Given the description of an element on the screen output the (x, y) to click on. 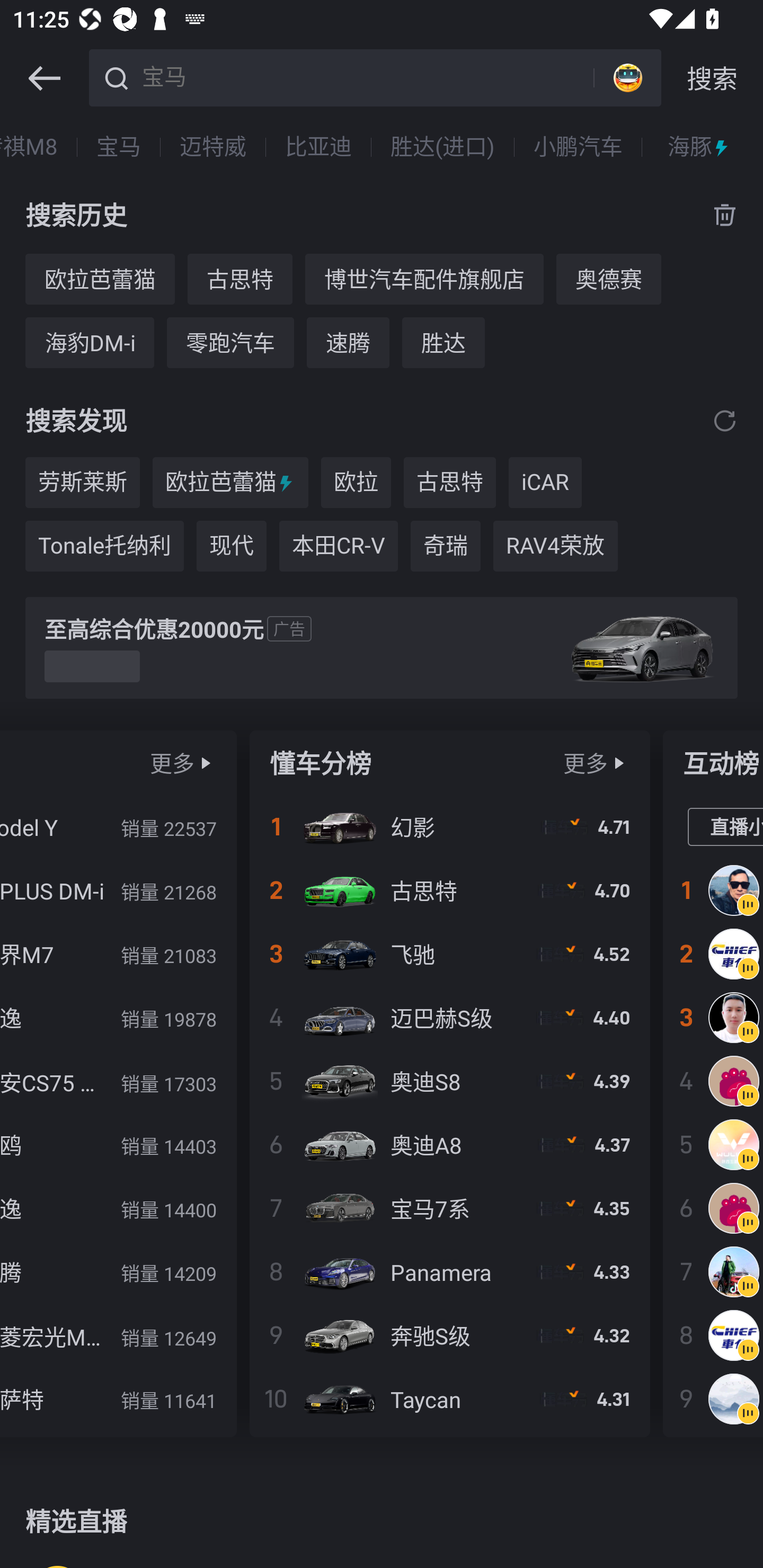
 宝马 (364, 76)
 (44, 78)
搜索 (711, 78)
宝马 (118, 147)
迈特威 (212, 147)
比亚迪 (318, 147)
胜达(进口) (442, 147)
小鹏汽车 (577, 147)
海豚 (699, 147)
欧拉芭蕾猫 (99, 278)
古思特 (239, 278)
博世汽车配件旗舰店 (424, 278)
奥德赛 (608, 278)
海豹DM-i (89, 342)
零跑汽车 (230, 342)
速腾 (347, 342)
胜达 (443, 342)
 (724, 419)
劳斯莱斯 (82, 482)
欧拉芭蕾猫 (230, 482)
欧拉 (355, 482)
古思特 (449, 482)
iCAR (544, 482)
Tonale托纳利 (104, 546)
现代 (231, 546)
本田CR-V (338, 546)
奇瑞 (445, 546)
RAV4荣放 (555, 546)
至高综合优惠20000元 广告 立享优惠 (381, 648)
更多 (172, 762)
更多 (585, 762)
 (205, 763)
 (619, 763)
Model Y 销量 22537 (117, 826)
幻影 4.71 (449, 826)
直播小时榜 (725, 826)
秦PLUS DM-i 销量 21268 (117, 890)
古思特 4.70 (449, 890)
问界M7 销量 21083 (117, 953)
飞驰 4.52 (449, 953)
轩逸 销量 19878 (117, 1017)
迈巴赫S级 4.40 (449, 1017)
长安CS75 PLUS 销量 17303 (117, 1080)
奥迪S8 4.39 (449, 1080)
海鸥 销量 14403 (117, 1144)
奥迪A8 4.37 (449, 1144)
朗逸 销量 14400 (117, 1208)
宝马7系 4.35 (449, 1208)
速腾 销量 14209 (117, 1271)
Panamera 4.33 (449, 1271)
五菱宏光MINIEV 销量 12649 (117, 1335)
奔驰S级 4.32 (449, 1335)
帕萨特 销量 11641 (117, 1398)
Taycan 4.31 (449, 1398)
